Given the description of an element on the screen output the (x, y) to click on. 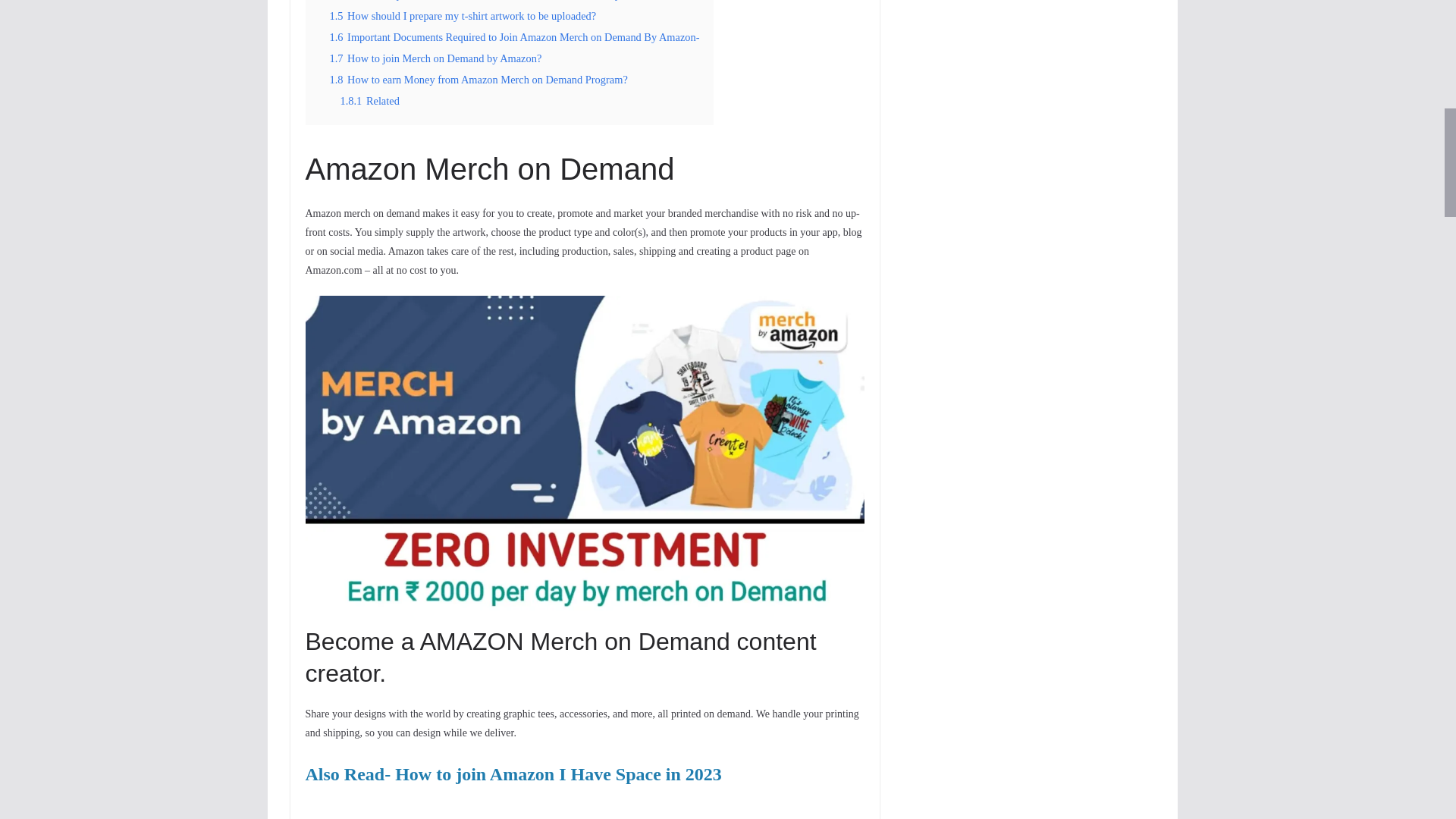
Also Read- How to join Amazon I Have Space in 2023 (512, 776)
1.5 How should I prepare my t-shirt artwork to be uploaded? (462, 15)
1.8.1 Related (368, 101)
1.7 How to join Merch on Demand by Amazon? (435, 58)
1.8 How to earn Money from Amazon Merch on Demand Program? (478, 79)
